Given the description of an element on the screen output the (x, y) to click on. 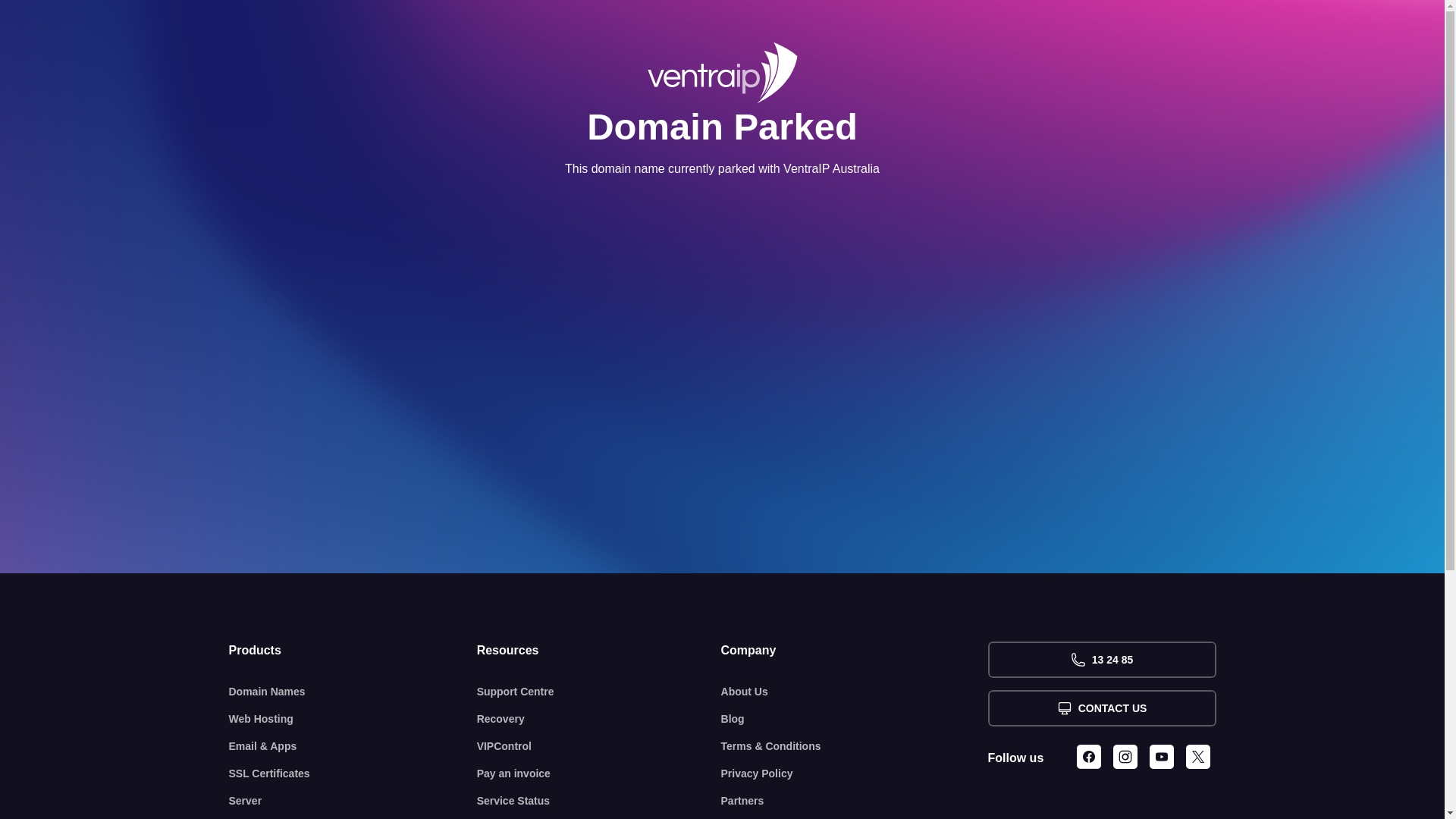
Web Hosting Element type: text (352, 718)
Domain Names Element type: text (352, 691)
About Us Element type: text (854, 691)
Pay an invoice Element type: text (598, 773)
Support Centre Element type: text (598, 691)
Privacy Policy Element type: text (854, 773)
CONTACT US Element type: text (1101, 708)
VIPControl Element type: text (598, 745)
Service Status Element type: text (598, 800)
Email & Apps Element type: text (352, 745)
Terms & Conditions Element type: text (854, 745)
Server Element type: text (352, 800)
Recovery Element type: text (598, 718)
13 24 85 Element type: text (1101, 659)
Partners Element type: text (854, 800)
SSL Certificates Element type: text (352, 773)
Blog Element type: text (854, 718)
